Given the description of an element on the screen output the (x, y) to click on. 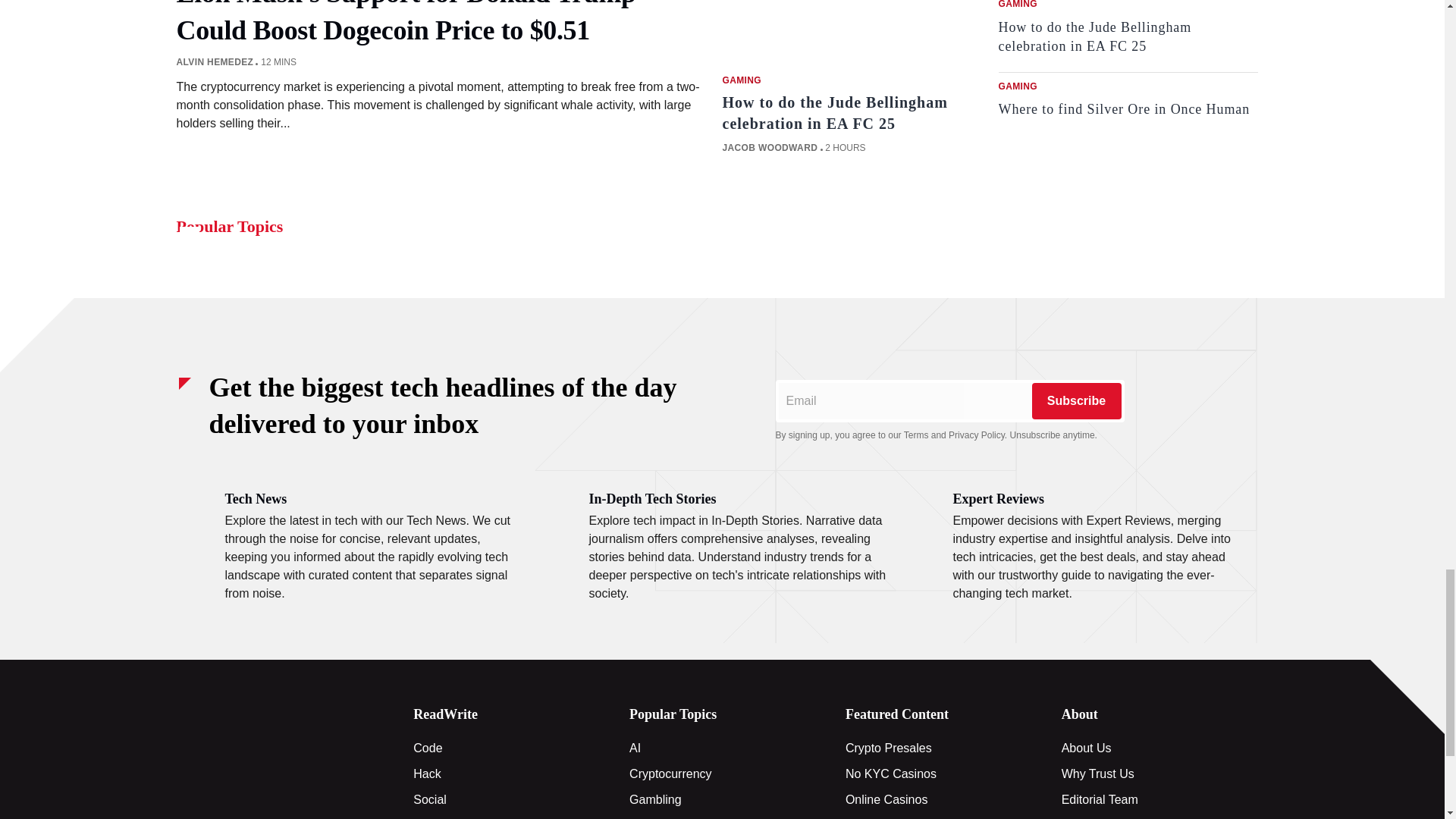
Subscribe (1075, 401)
